Given the description of an element on the screen output the (x, y) to click on. 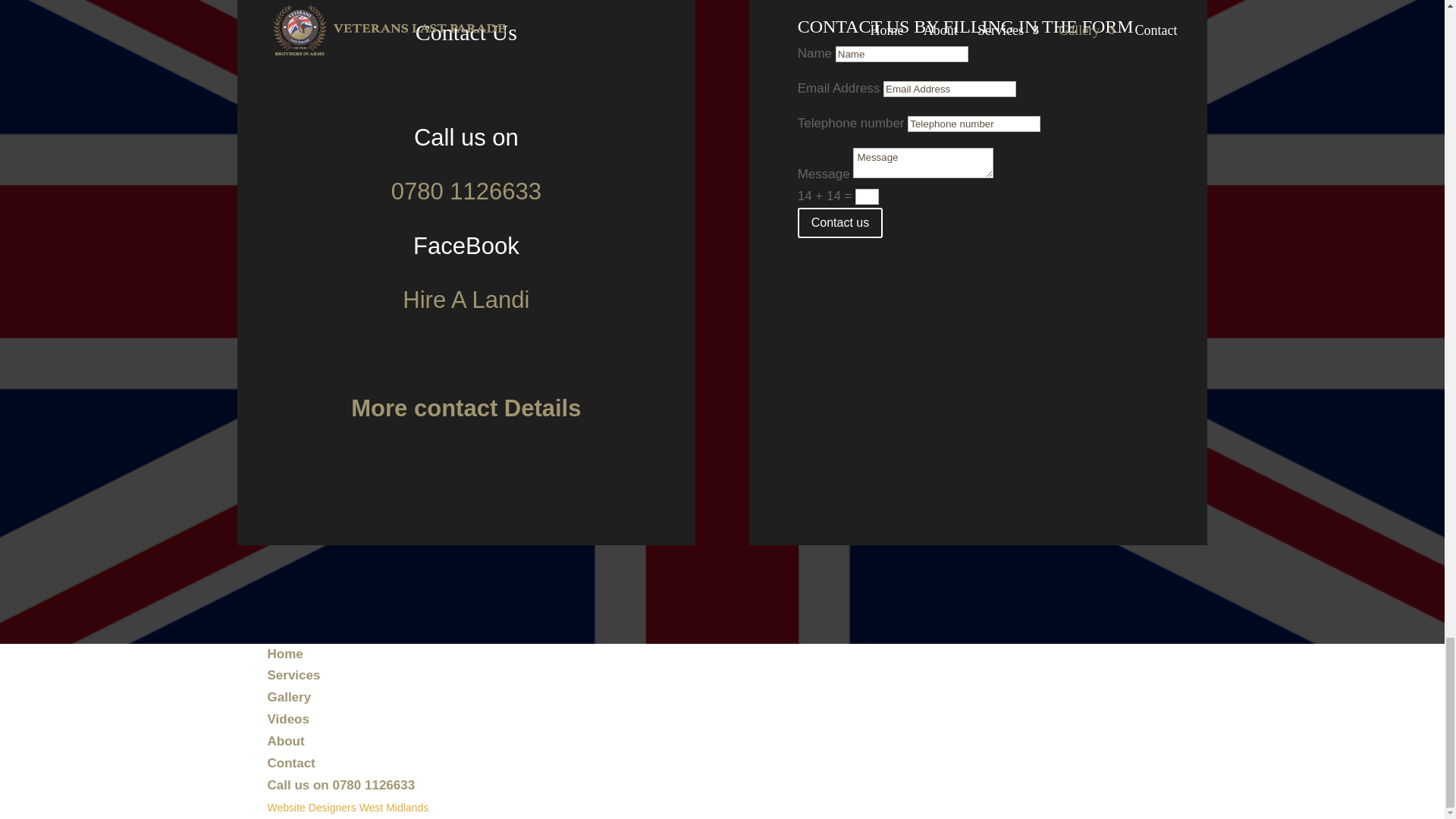
Contact (290, 762)
About (285, 740)
Services (293, 675)
Contact us (839, 223)
More contact Details (465, 407)
Videos (287, 718)
Home (284, 653)
0780 1126633 (466, 191)
Call us on 0780 1126633 (340, 785)
Gallery (288, 697)
Website Designers West Midlands (347, 807)
Only numbers allowed. (974, 123)
